Given the description of an element on the screen output the (x, y) to click on. 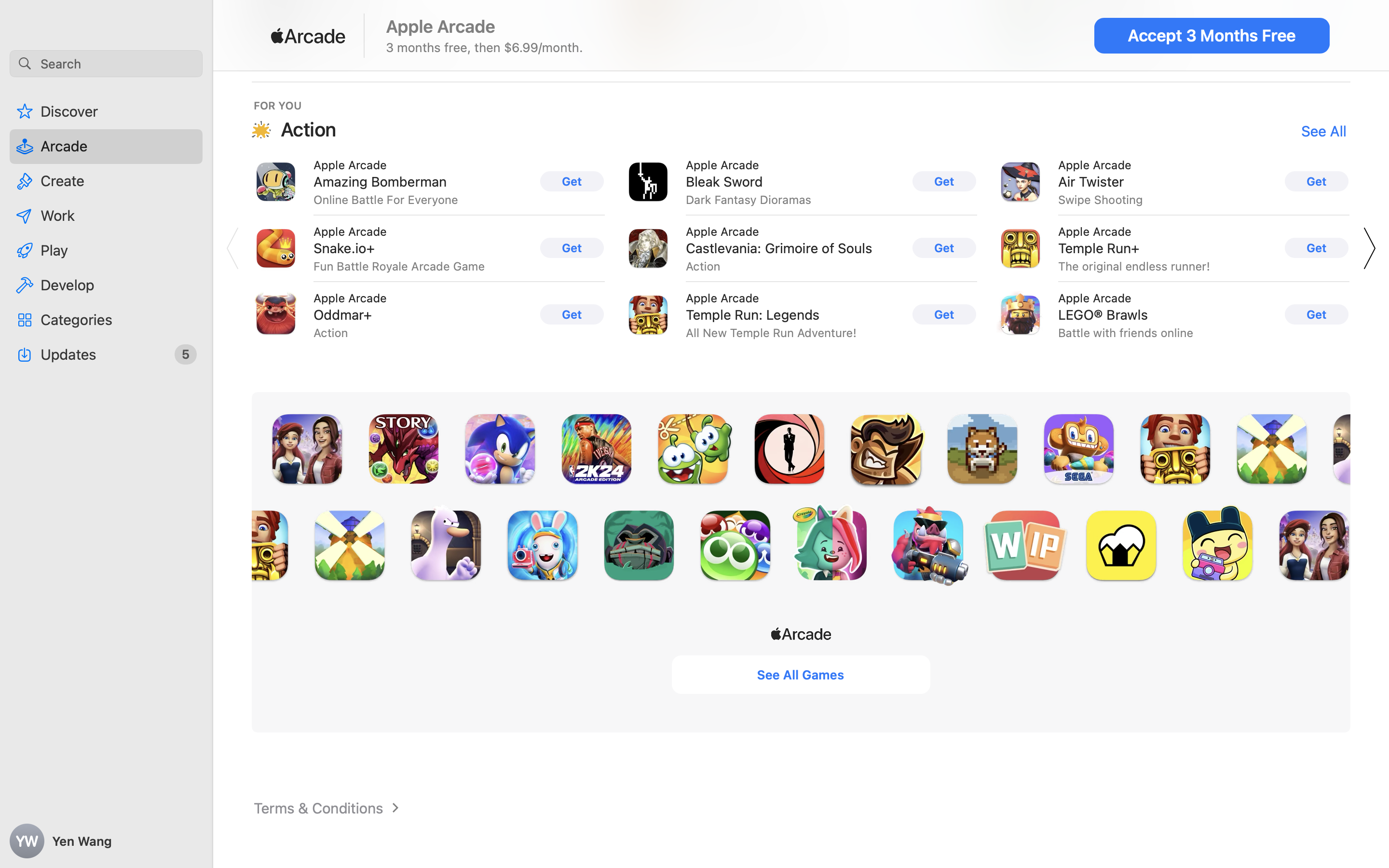
FOR YOU Element type: AXStaticText (277, 104)
Yen Wang Element type: AXButton (106, 840)
Action Element type: AXStaticText (308, 128)
3 months free, then $6.99/month. Element type: AXStaticText (484, 46)
